Given the description of an element on the screen output the (x, y) to click on. 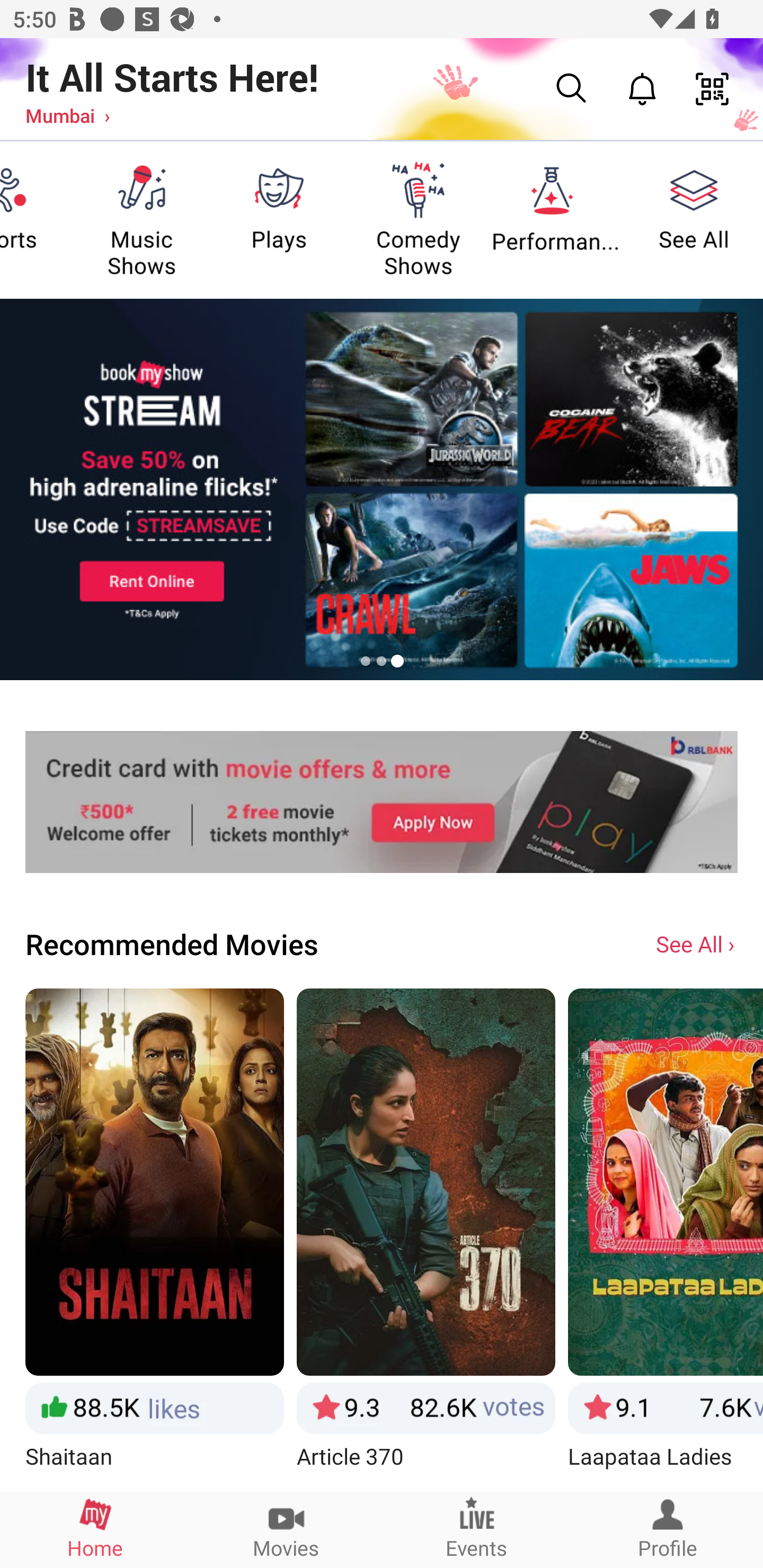
Mumbai  › (67, 114)
See All › (696, 943)
Shaitaan (154, 1239)
Article 370 (425, 1239)
Laapataa Ladies (665, 1239)
Home (95, 1529)
Movies (285, 1529)
Events (476, 1529)
Profile (667, 1529)
